Given the description of an element on the screen output the (x, y) to click on. 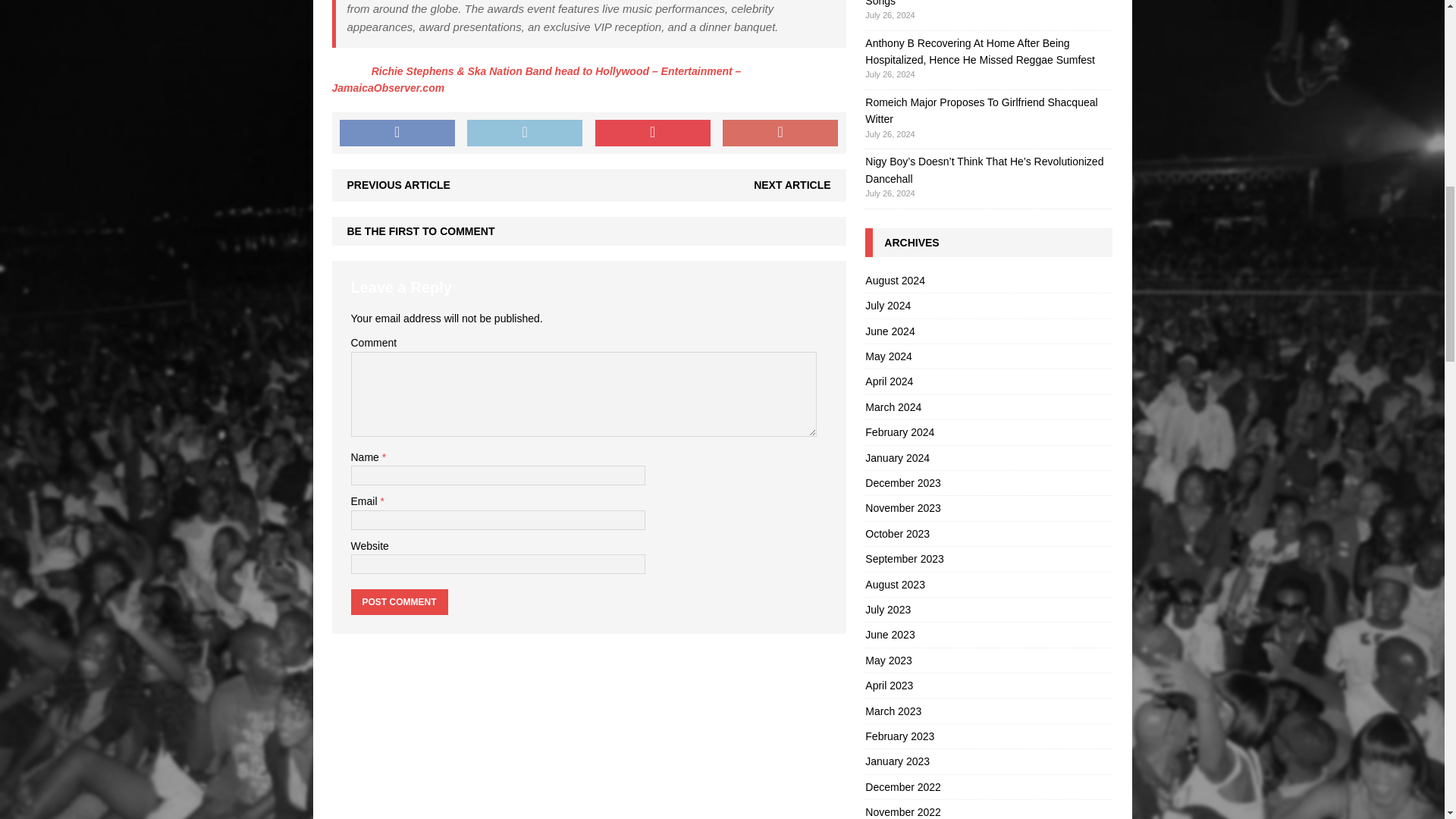
Tweet This Post (524, 133)
PREVIOUS ARTICLE (398, 184)
Post Comment (398, 601)
Share on Facebook (396, 133)
NEXT ARTICLE (791, 184)
Post Comment (398, 601)
Pin This Post (652, 133)
